Given the description of an element on the screen output the (x, y) to click on. 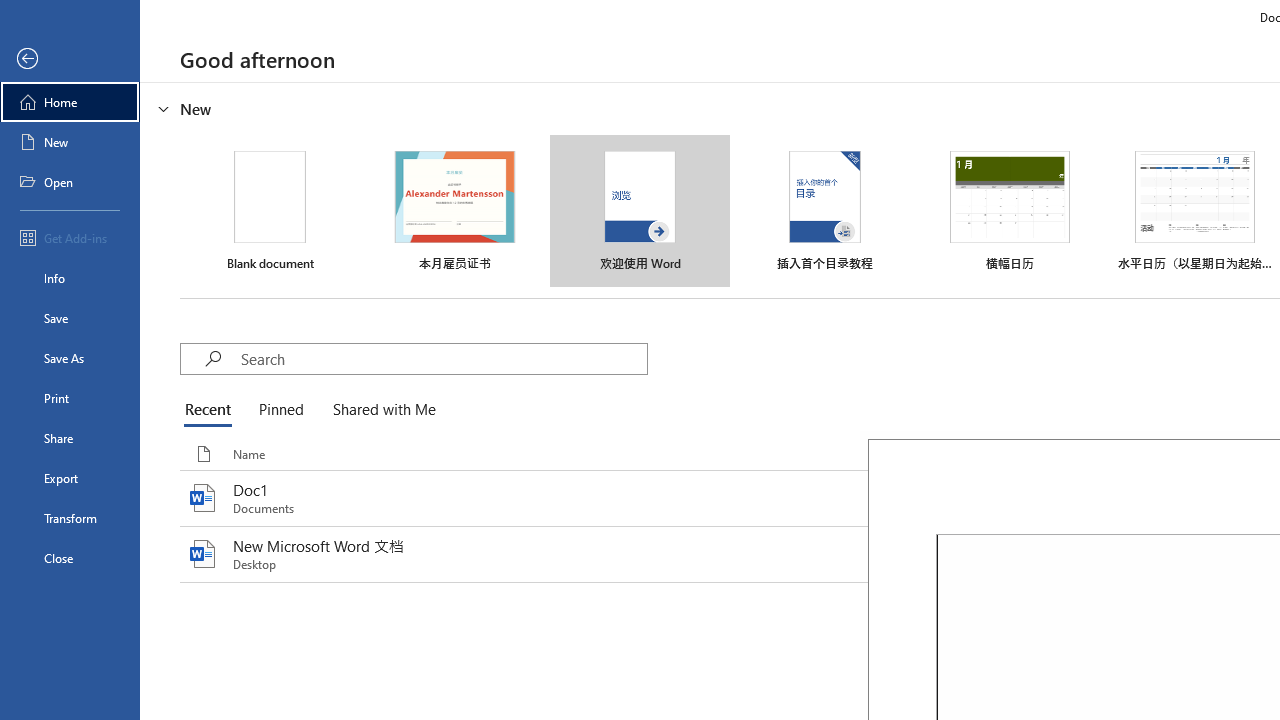
Hide or show region (164, 108)
Save As (69, 357)
Transform (69, 517)
New (69, 141)
Export (69, 477)
Info (69, 277)
Back (69, 59)
Shared with Me (379, 410)
